Given the description of an element on the screen output the (x, y) to click on. 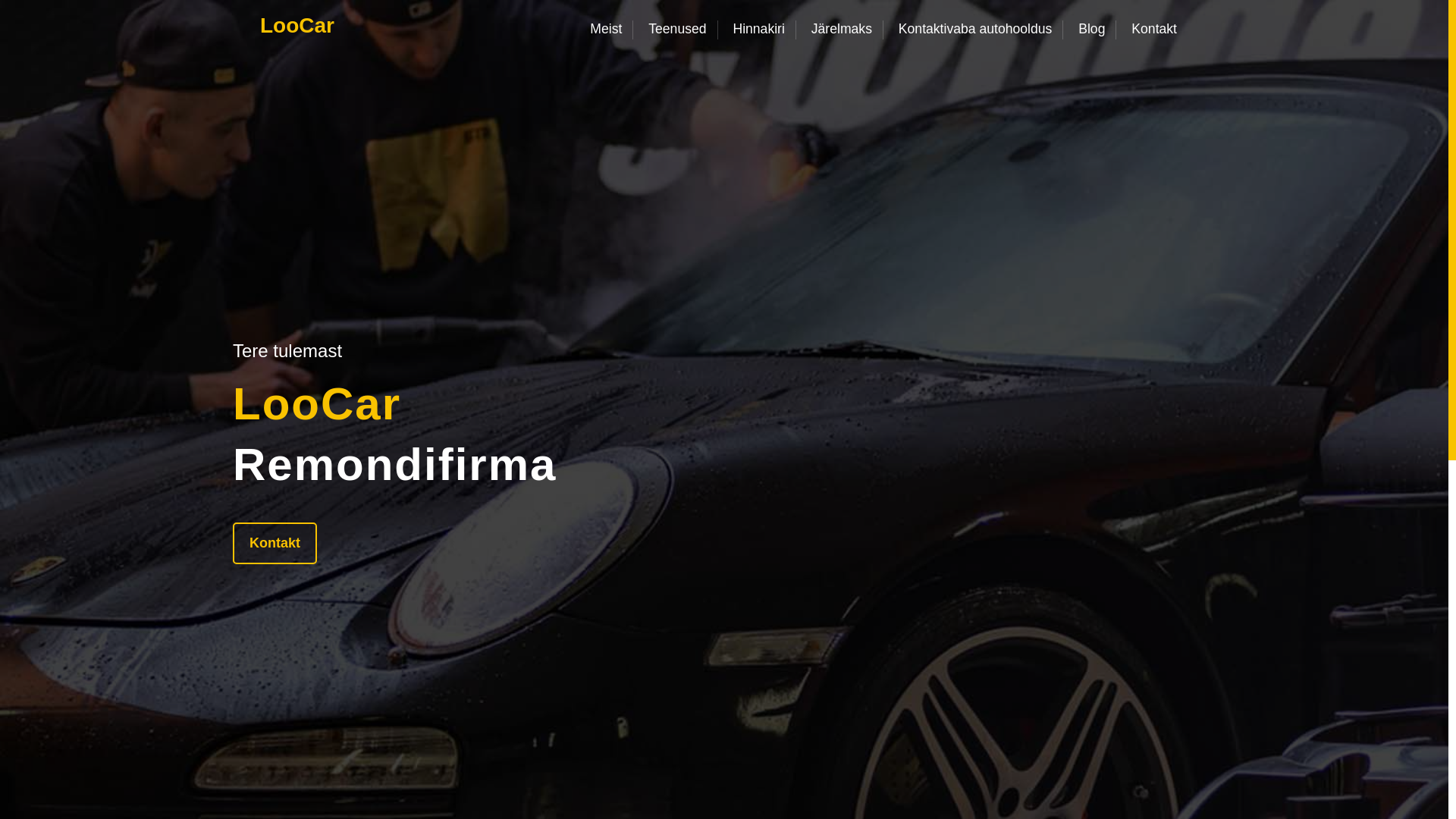
Kontaktivaba autohooldus (974, 28)
Kontakt (274, 542)
Teenused (677, 28)
Meist (611, 28)
Kontakt (1153, 28)
Blog (1091, 28)
LooCar (297, 25)
Hinnakiri (757, 28)
